Given the description of an element on the screen output the (x, y) to click on. 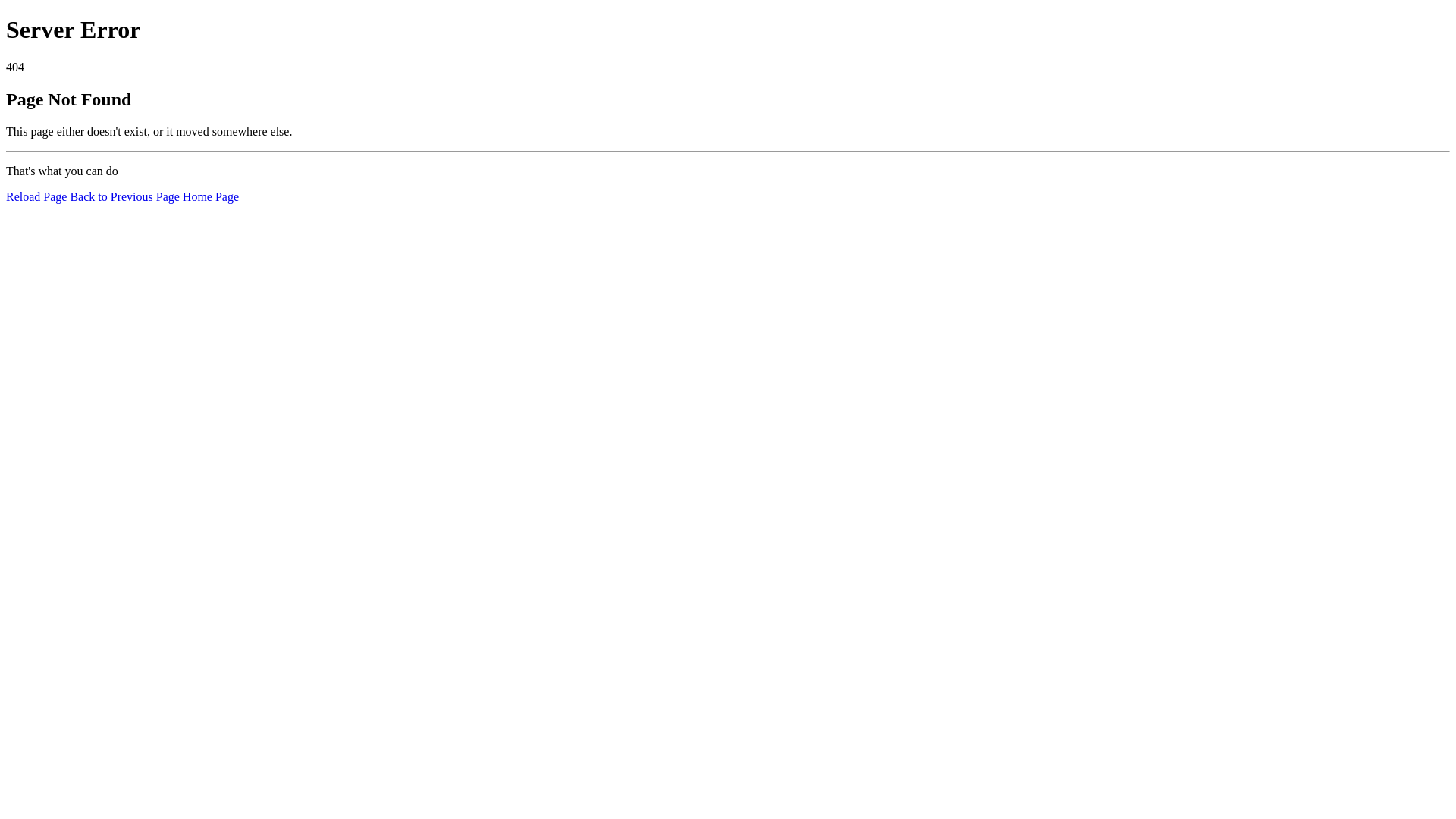
Home Page Element type: text (210, 196)
Back to Previous Page Element type: text (123, 196)
Reload Page Element type: text (36, 196)
